Given the description of an element on the screen output the (x, y) to click on. 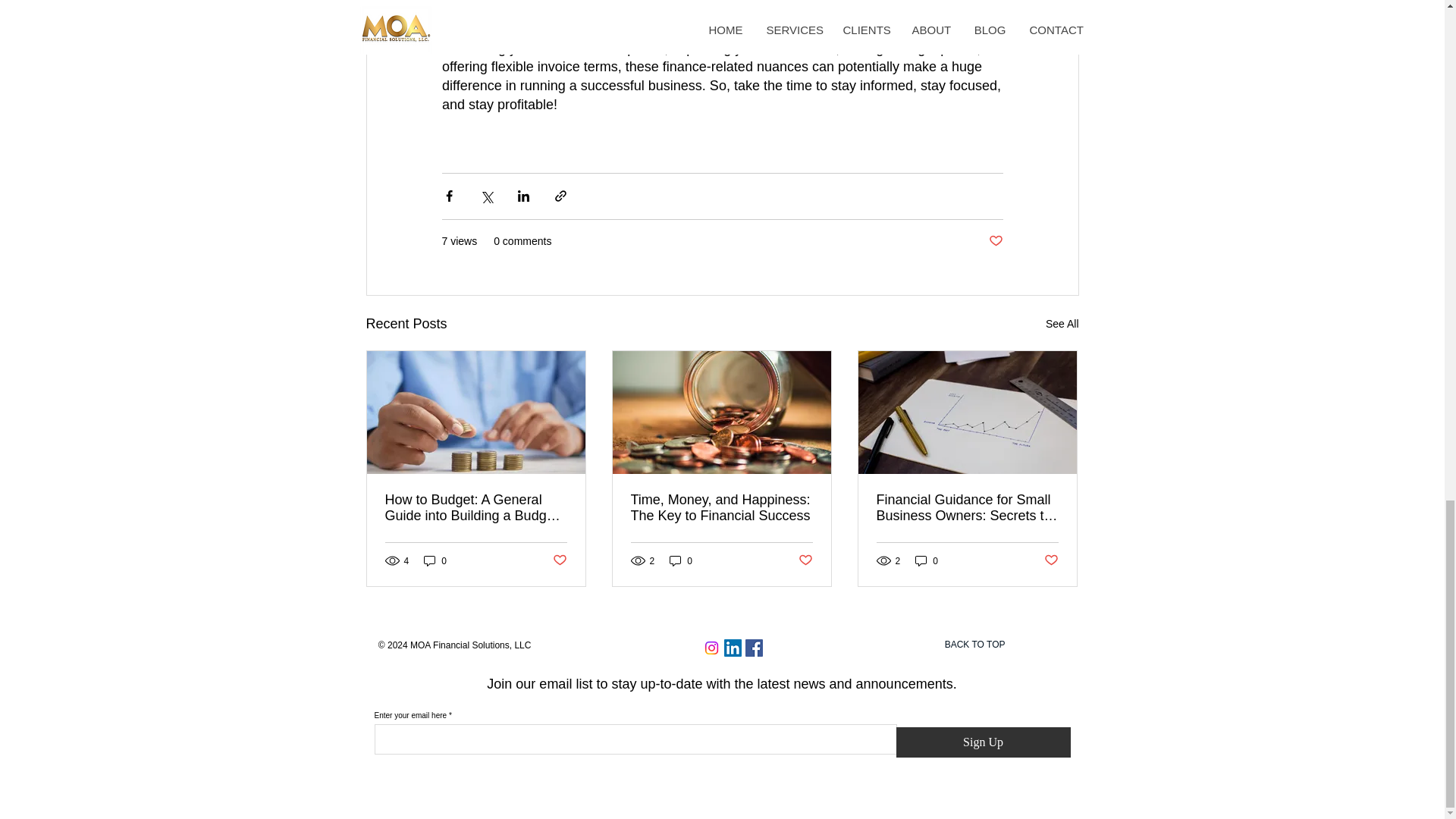
Post not marked as liked (1050, 560)
Post not marked as liked (804, 560)
Post not marked as liked (995, 241)
See All (1061, 323)
Time, Money, and Happiness: The Key to Financial Success (721, 508)
0 (435, 560)
0 (681, 560)
Post not marked as liked (558, 560)
